Given the description of an element on the screen output the (x, y) to click on. 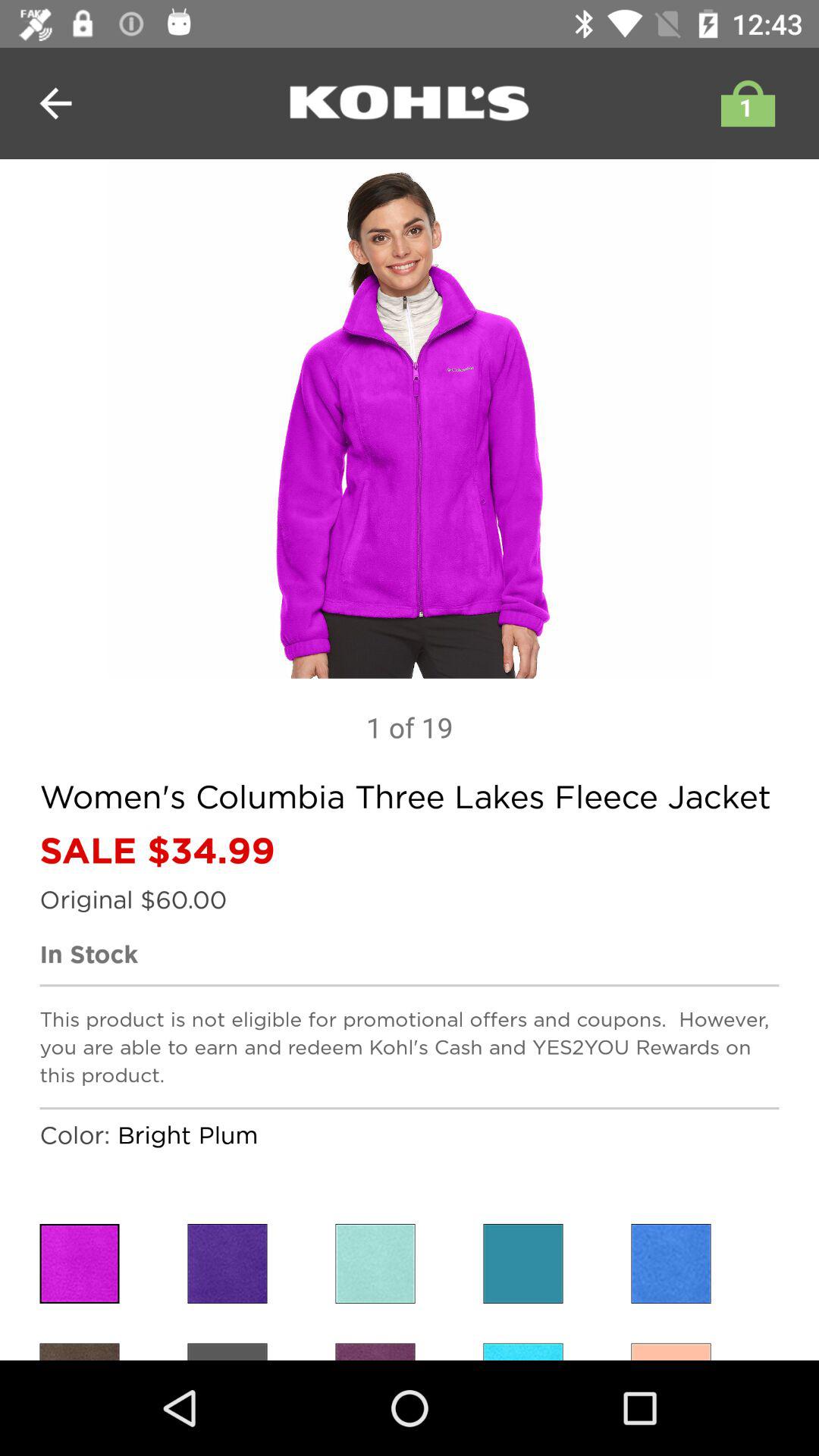
go back (55, 103)
